Given the description of an element on the screen output the (x, y) to click on. 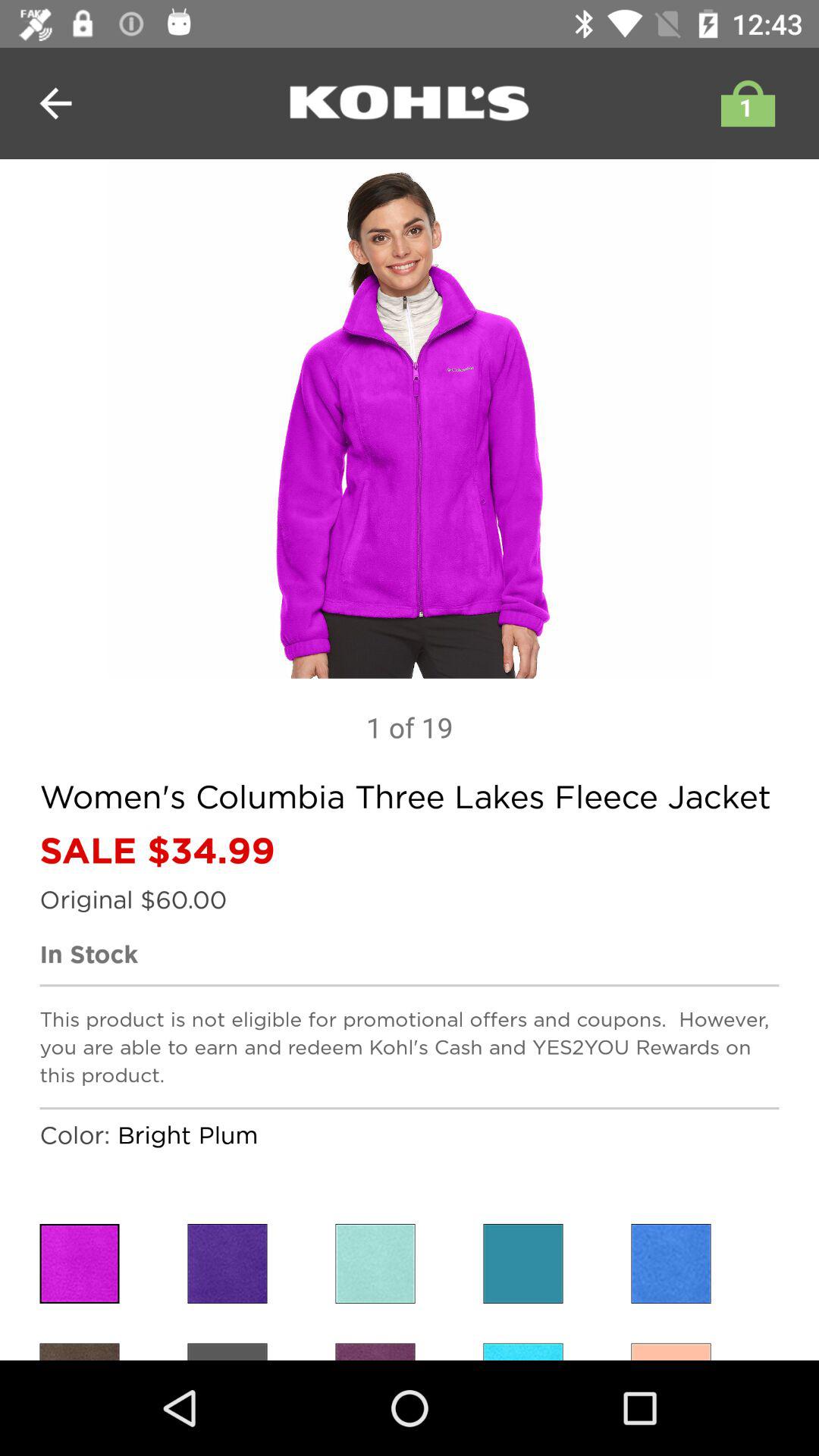
go back (55, 103)
